Given the description of an element on the screen output the (x, y) to click on. 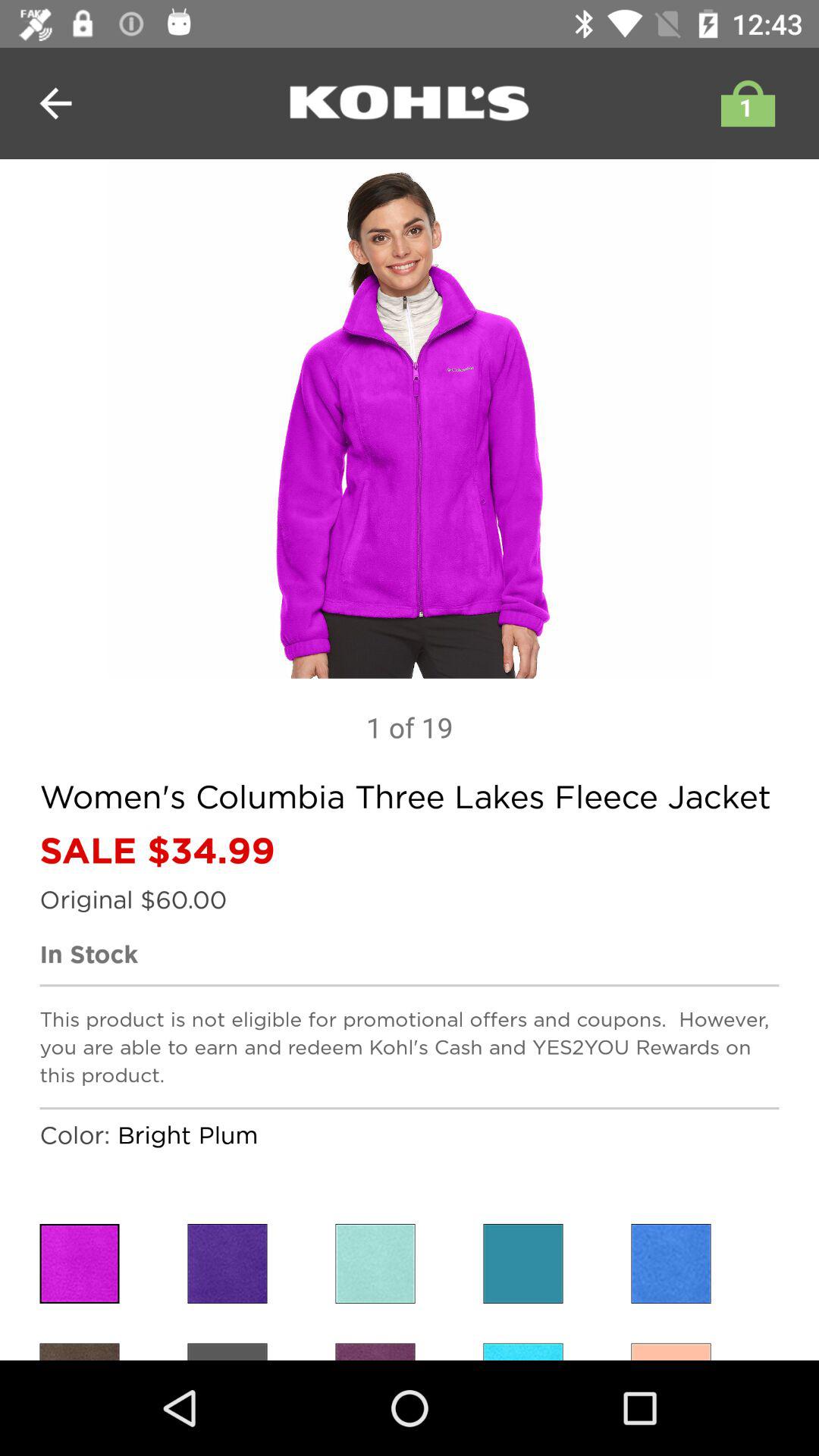
go back (55, 103)
